Given the description of an element on the screen output the (x, y) to click on. 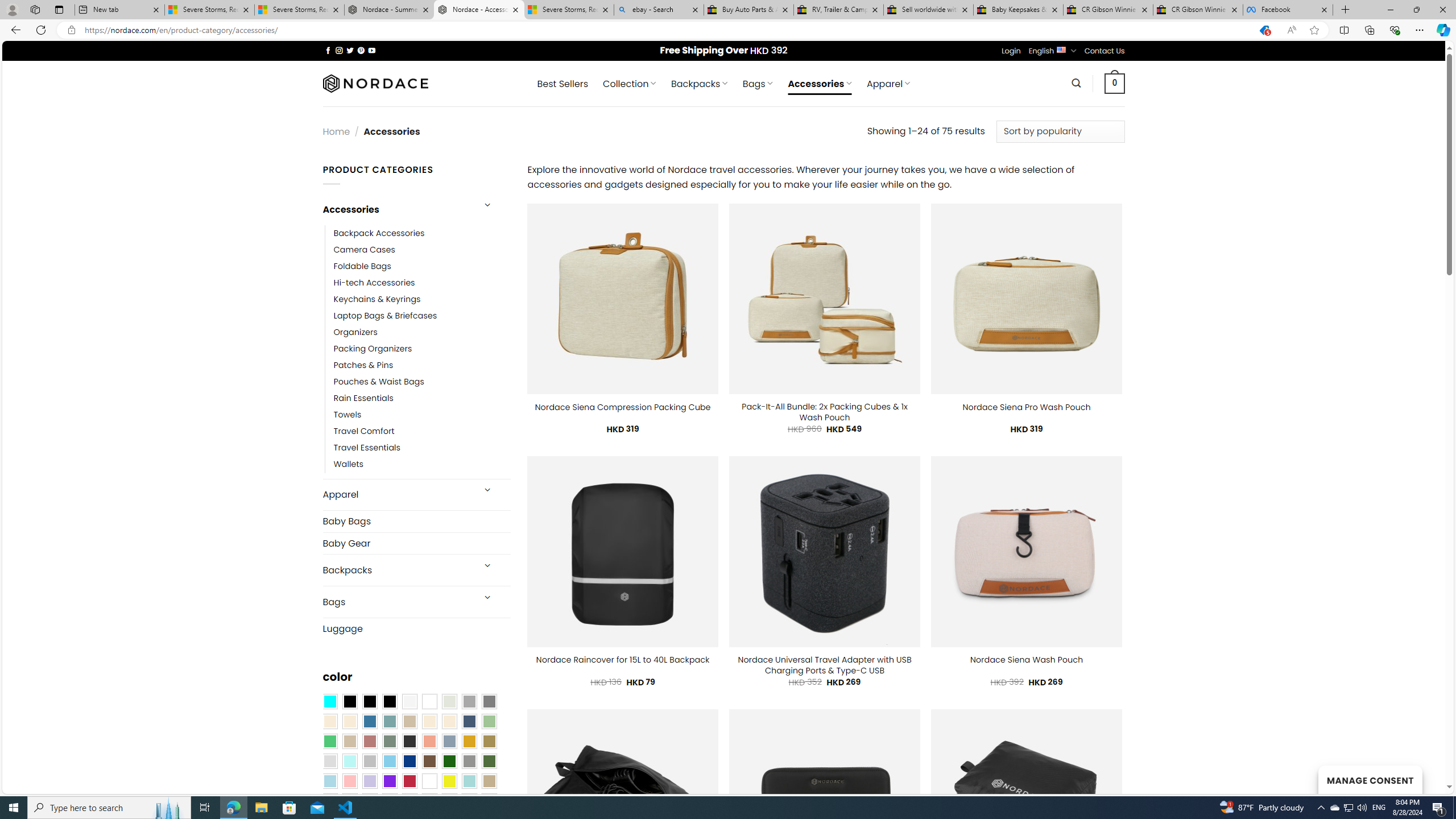
Hi-tech Accessories (373, 282)
Nordace - Accessories (478, 9)
Pack-It-All Bundle: 2x Packing Cubes & 1x Wash Pouch (824, 412)
White (429, 780)
Bags (397, 602)
Towels (347, 415)
Dark Green (449, 761)
Caramel (429, 721)
Beige (329, 721)
